Given the description of an element on the screen output the (x, y) to click on. 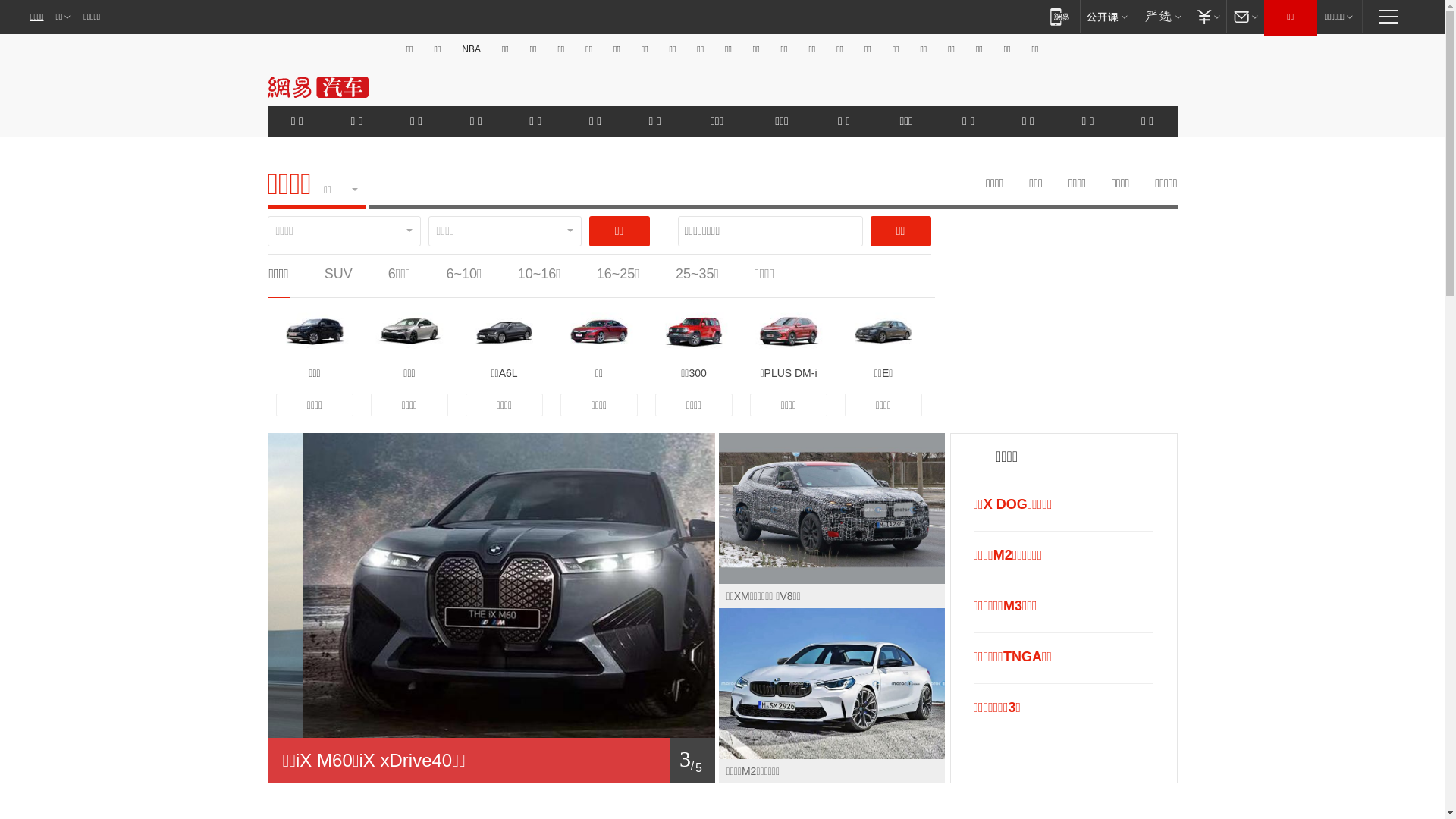
SUV Element type: text (338, 273)
NBA Element type: text (471, 48)
1/ 5 Element type: text (490, 760)
